Given the description of an element on the screen output the (x, y) to click on. 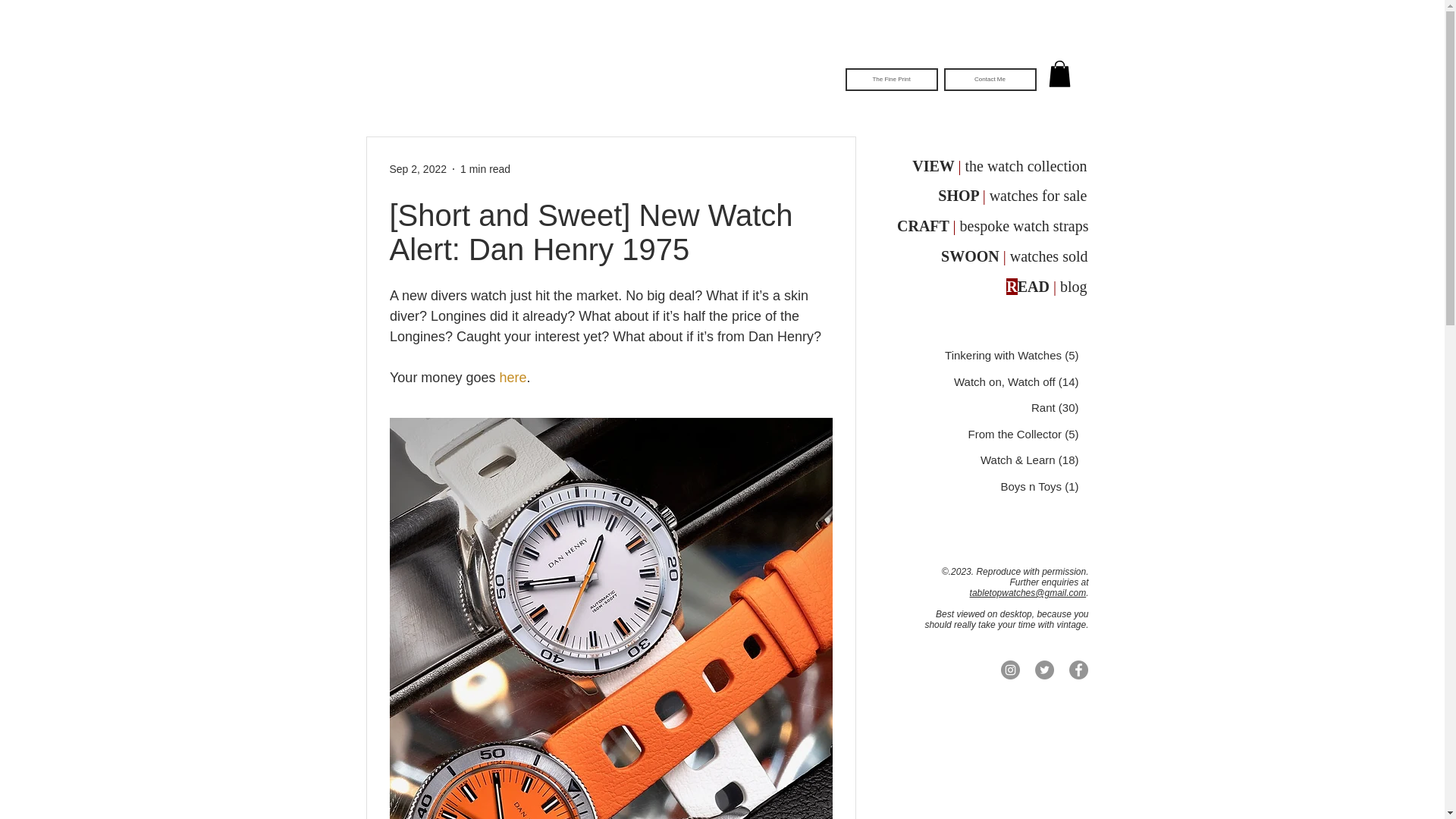
here (512, 377)
Contact Me (989, 78)
Sep 2, 2022 (418, 168)
The Fine Print (890, 78)
1 min read (485, 168)
